Given the description of an element on the screen output the (x, y) to click on. 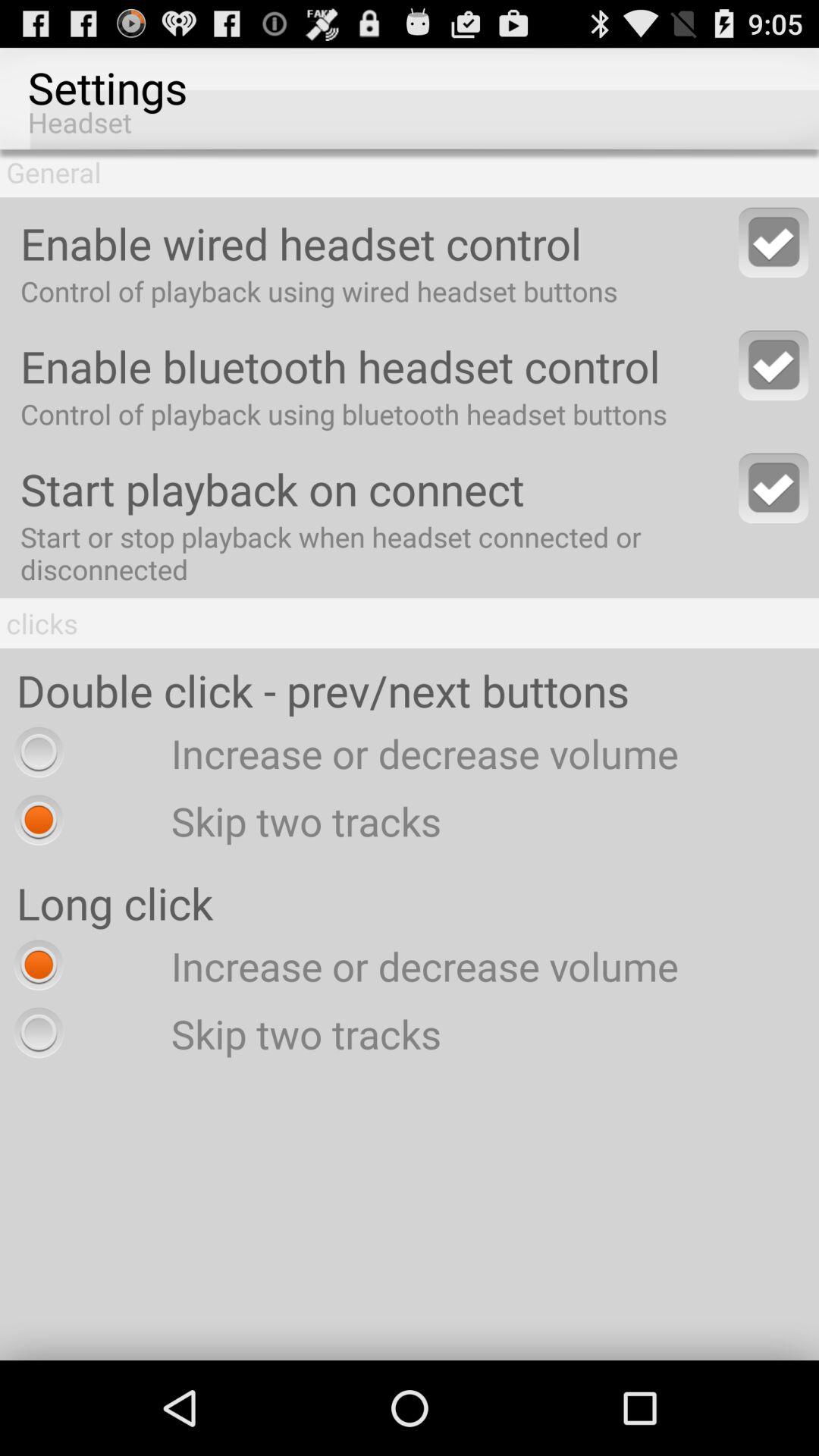
toggle enable/disable wired headset control (773, 242)
